Given the description of an element on the screen output the (x, y) to click on. 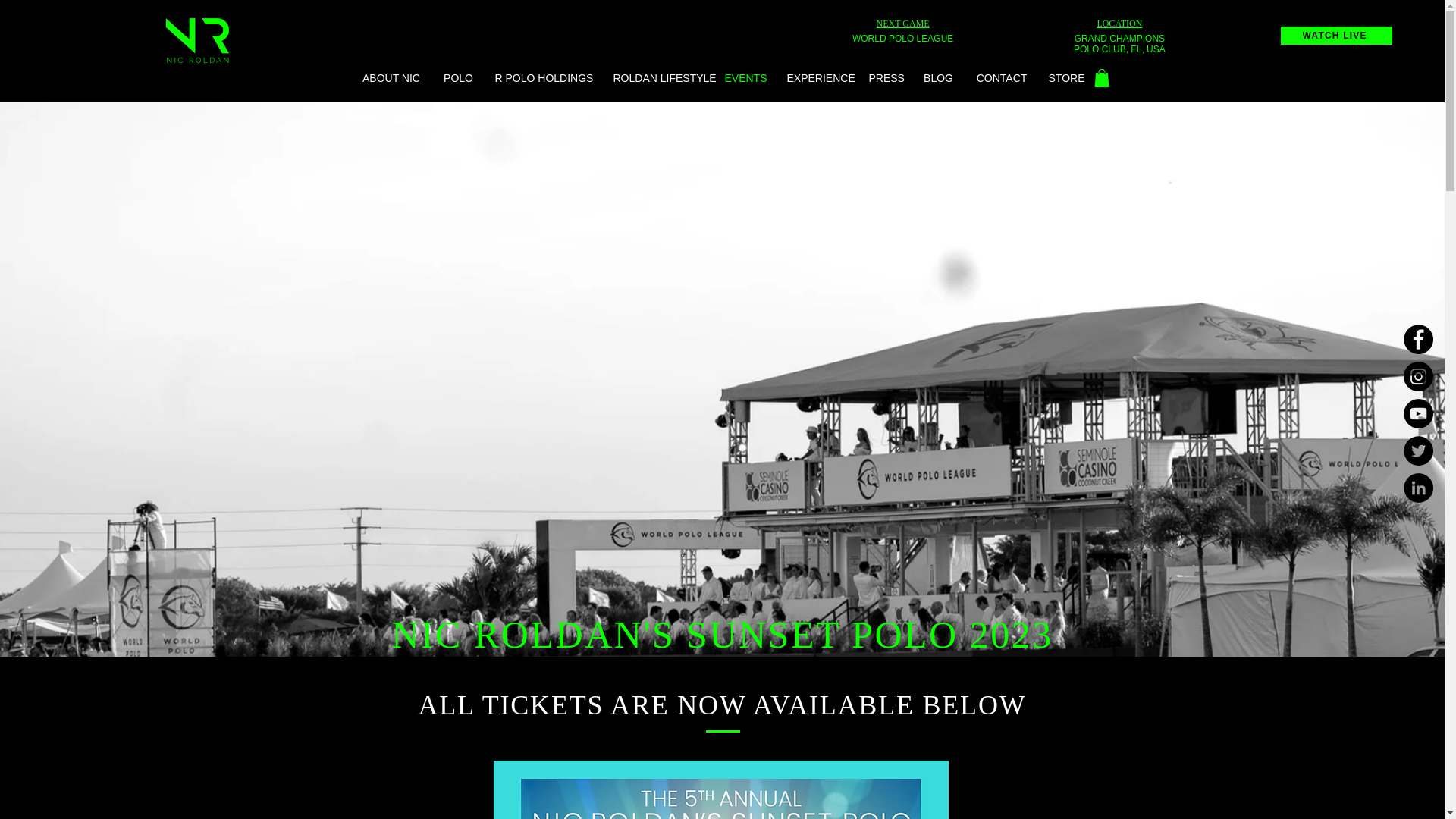
PRESS (885, 77)
STORE (1066, 77)
EVENTS (745, 77)
ALL TICKETS ARE NOW AVAILABLE BELOW (722, 704)
ABOUT NIC (390, 77)
CONTACT (1000, 77)
EXPERIENCE (817, 77)
BLOG (937, 77)
R POLO HOLDINGS (544, 77)
ROLDAN LIFESTYLE (659, 77)
